Given the description of an element on the screen output the (x, y) to click on. 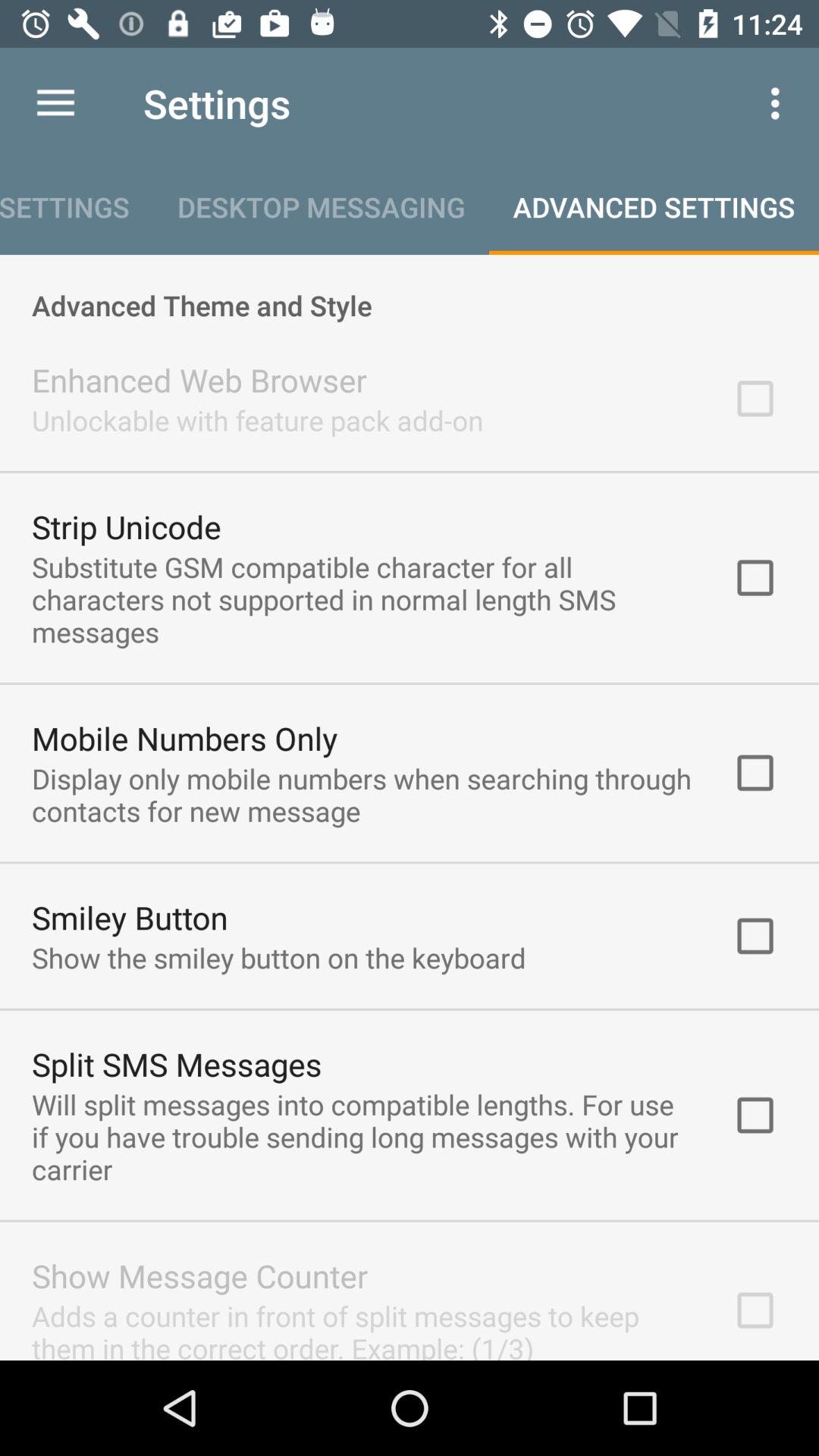
press icon below the will split messages item (199, 1275)
